Given the description of an element on the screen output the (x, y) to click on. 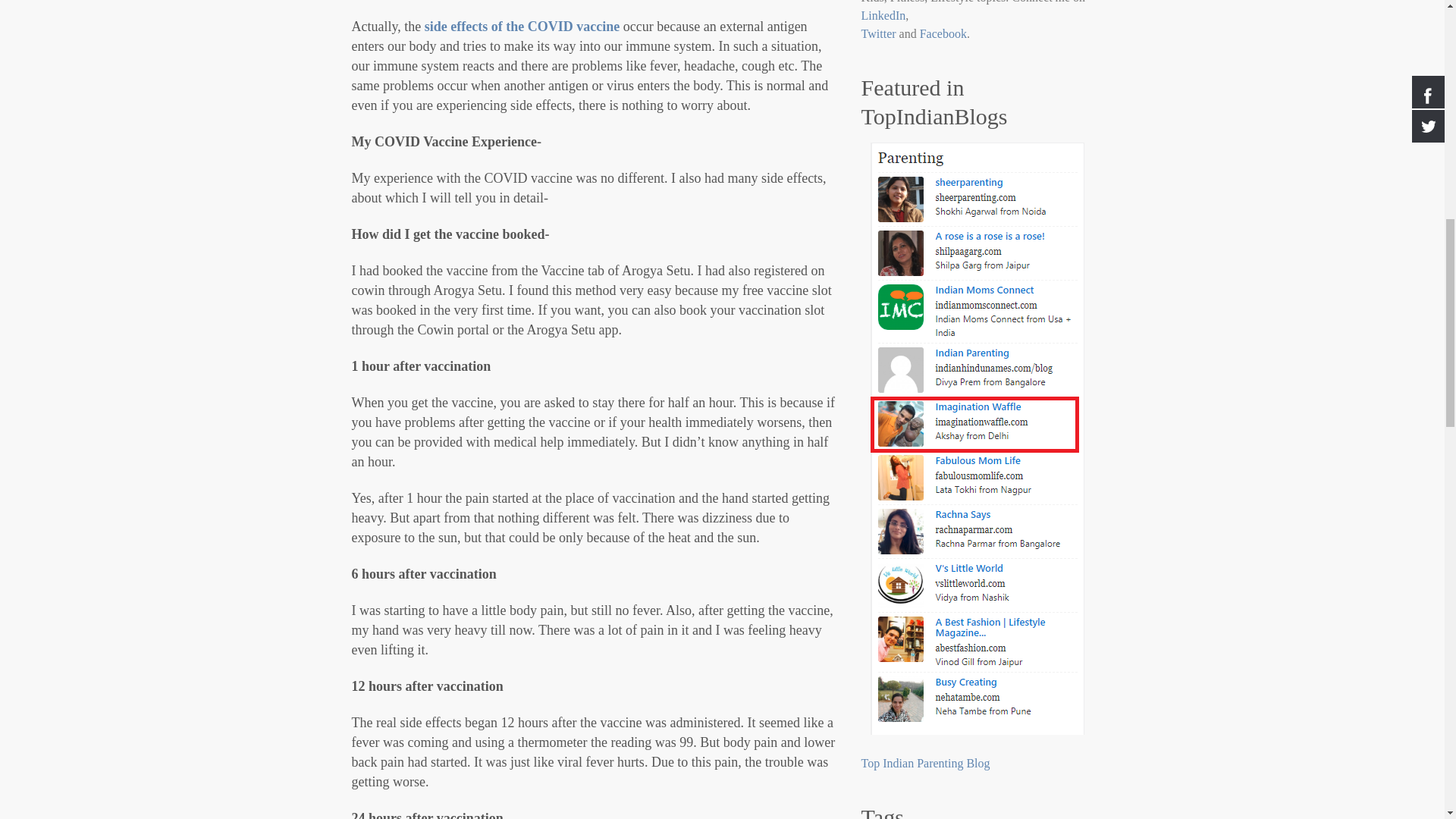
side effects of the COVID vaccine (522, 26)
